Given the description of an element on the screen output the (x, y) to click on. 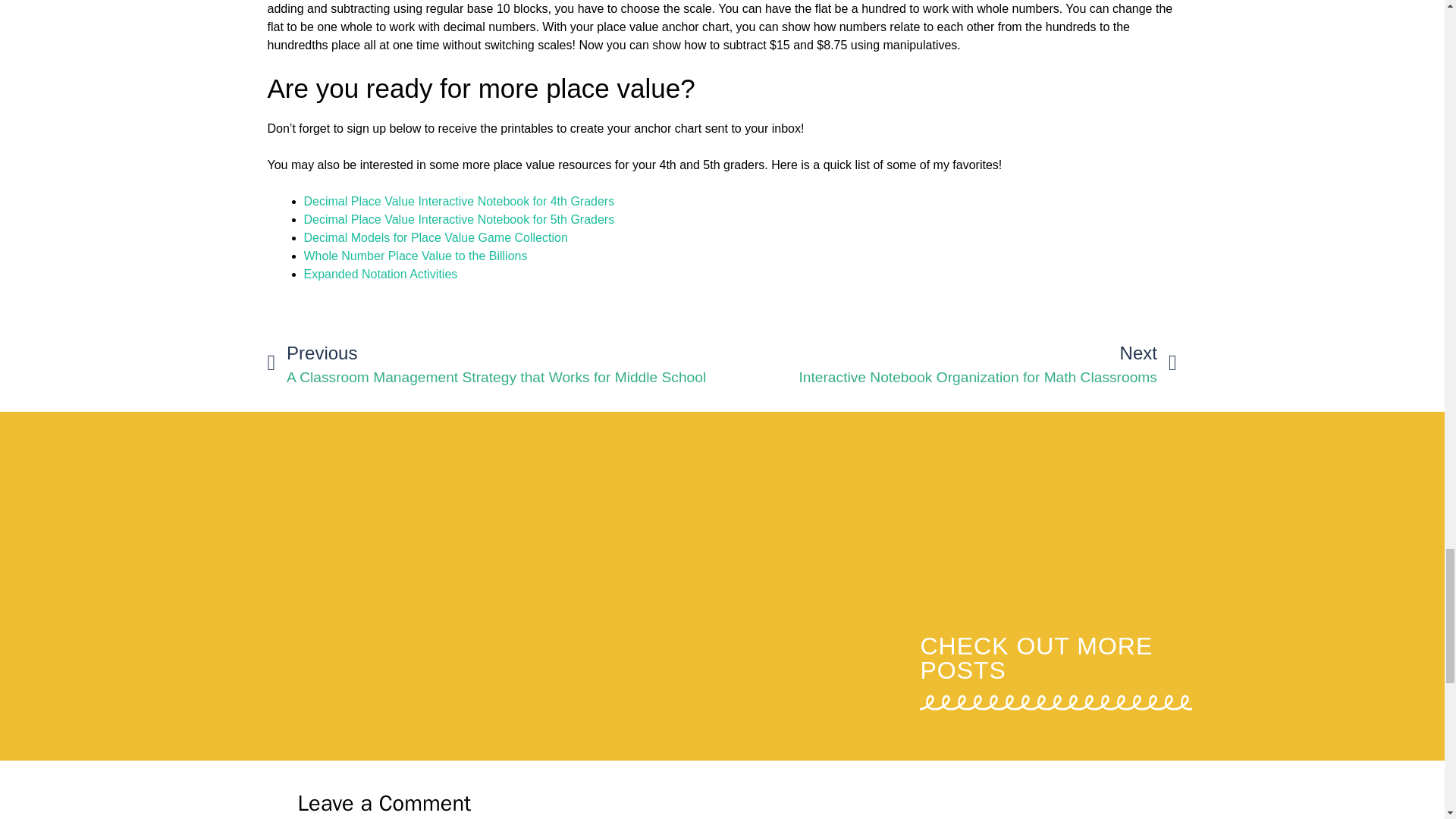
Decimal Place Value Interactive Notebook for 5th Graders (458, 219)
Expanded Notation Activities (379, 273)
Decimal Place Value Interactive Notebook for 4th Graders (949, 364)
Whole Number Place Value to the Billions (458, 201)
Decimal Models for Place Value Game Collection (414, 255)
